Given the description of an element on the screen output the (x, y) to click on. 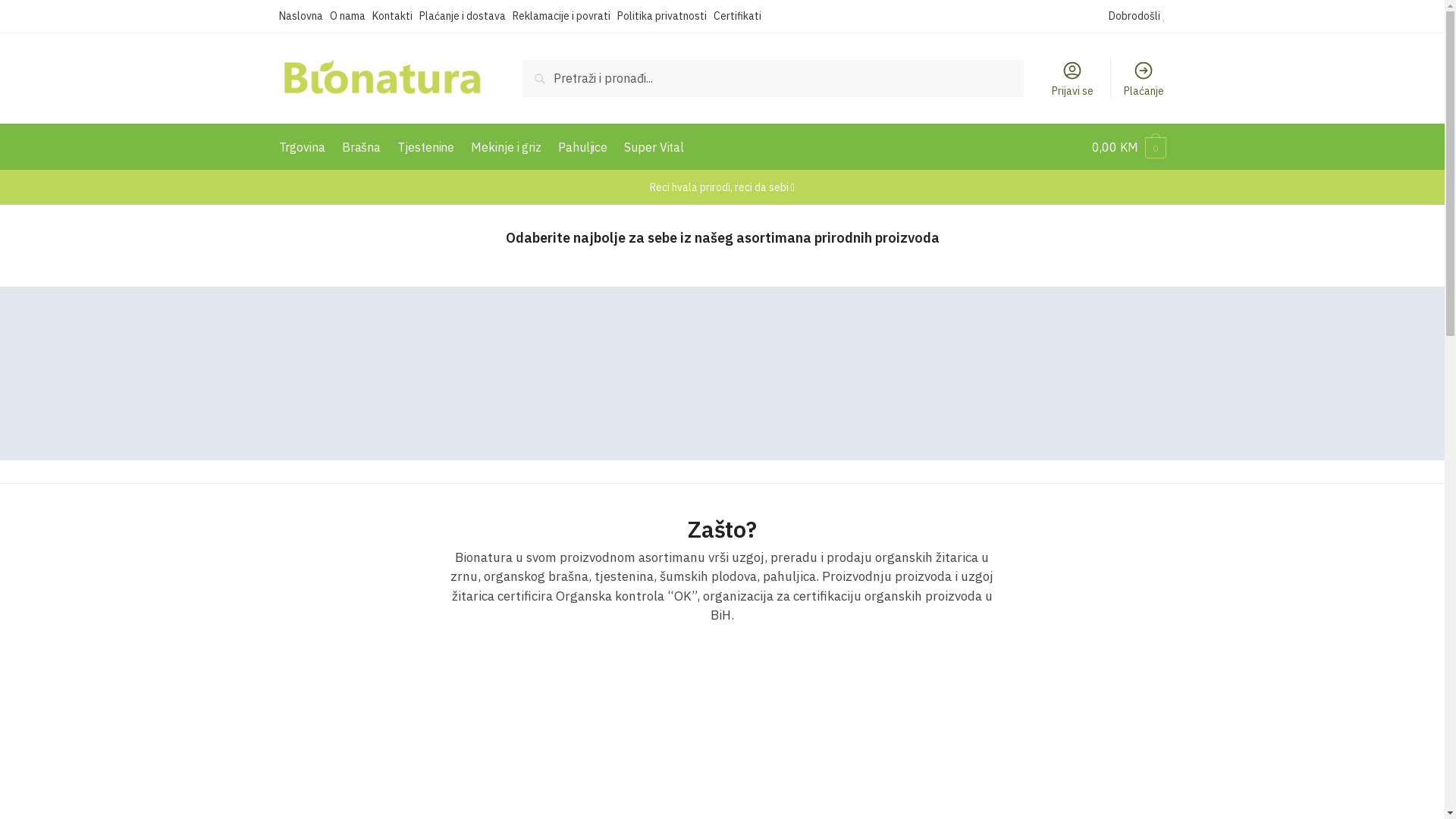
Trgovina Element type: text (305, 146)
0,00 KM 0 Element type: text (1128, 146)
O nama   Element type: text (350, 15)
Super Vital Element type: text (653, 146)
Pahuljice Element type: text (582, 146)
Tjestenine Element type: text (426, 146)
Naslovna   Element type: text (304, 15)
Prijavi se Element type: text (1071, 78)
Reklamacije i povrati   Element type: text (564, 15)
Kontakti   Element type: text (394, 15)
Mekinje i griz Element type: text (506, 146)
Politika privatnosti   Element type: text (665, 15)
